Given the description of an element on the screen output the (x, y) to click on. 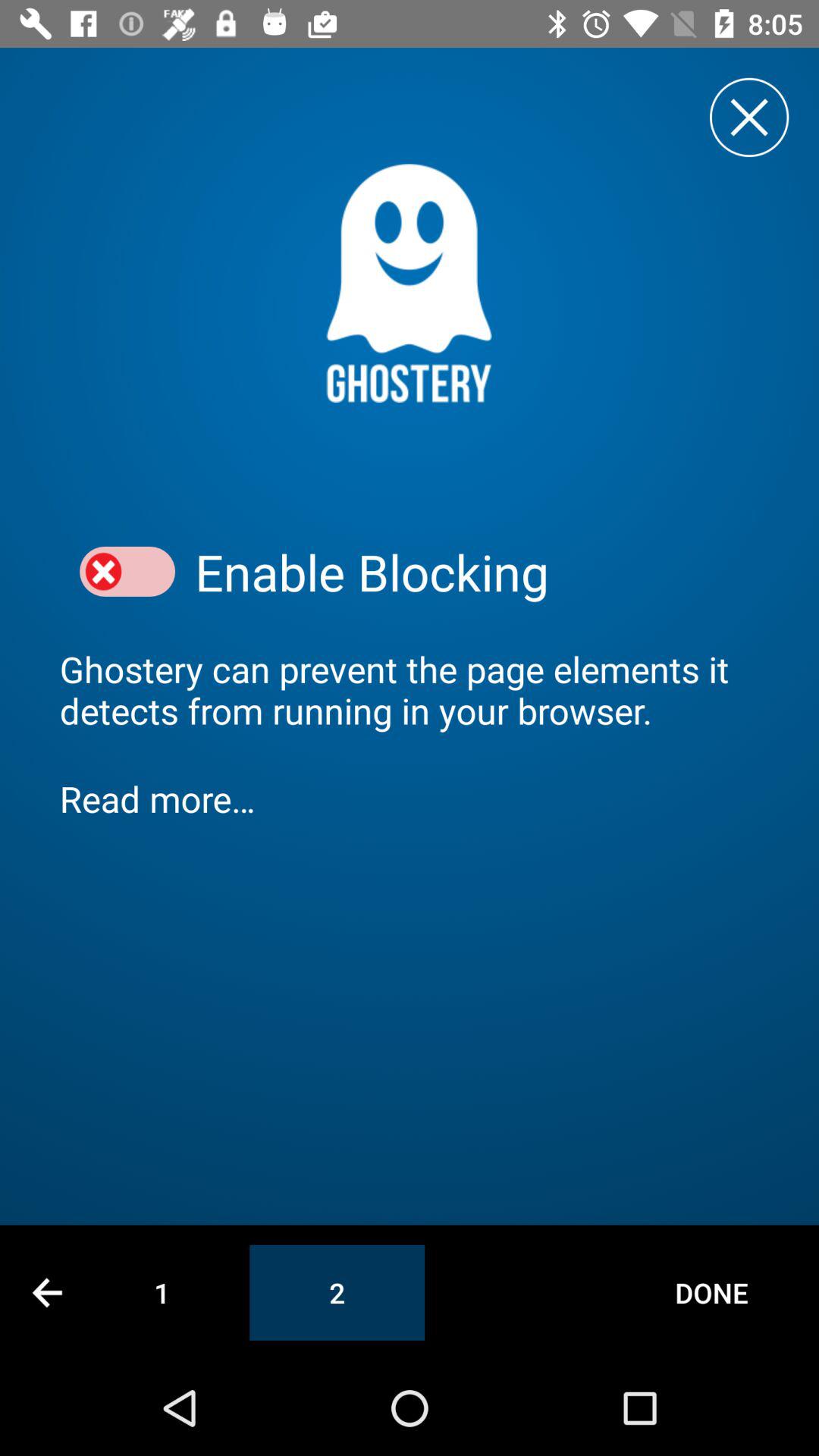
click icon next to the enable blocking item (127, 571)
